Given the description of an element on the screen output the (x, y) to click on. 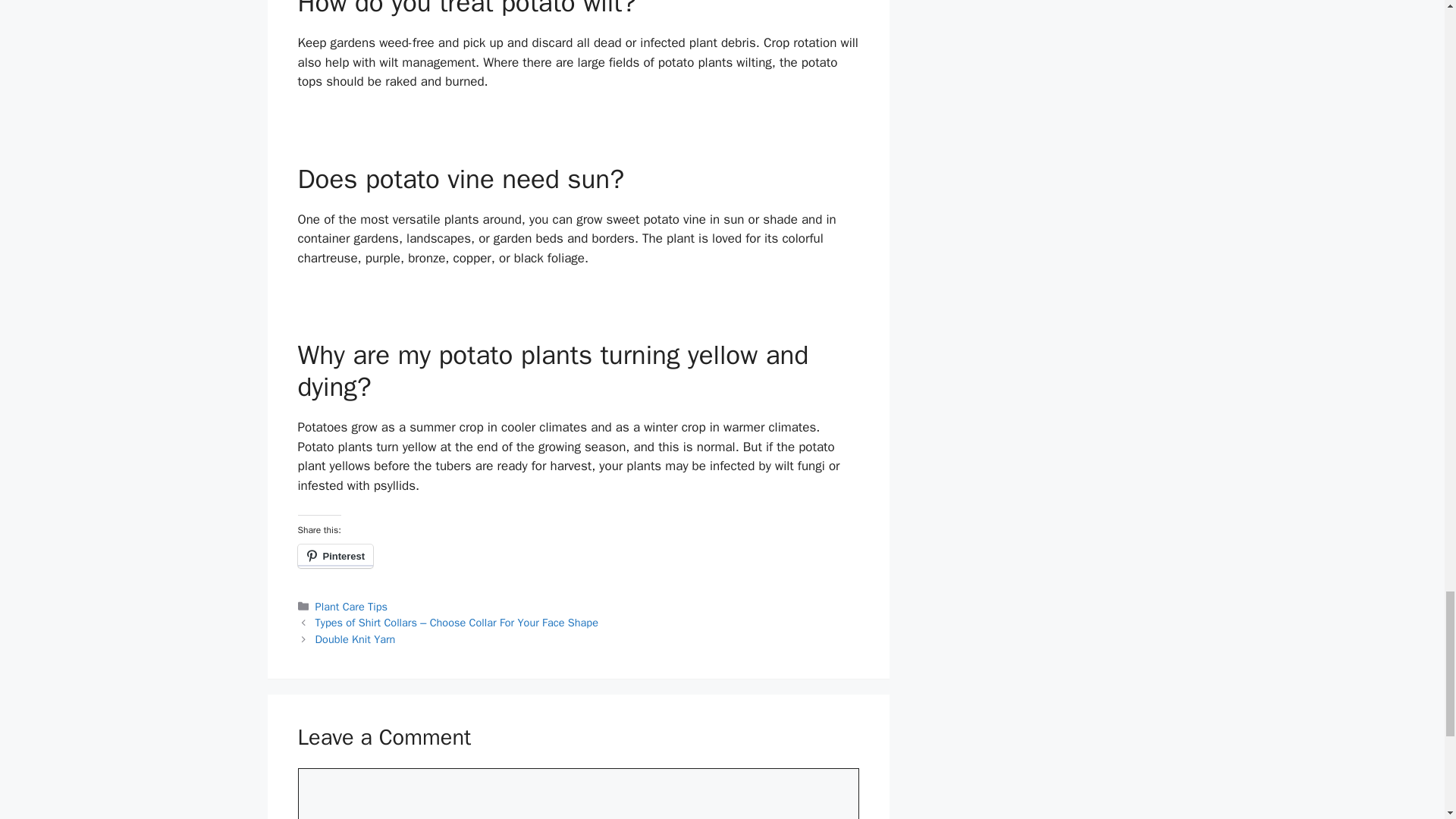
Plant Care Tips (351, 606)
Click to share on Pinterest (334, 556)
Pinterest (334, 556)
